Given the description of an element on the screen output the (x, y) to click on. 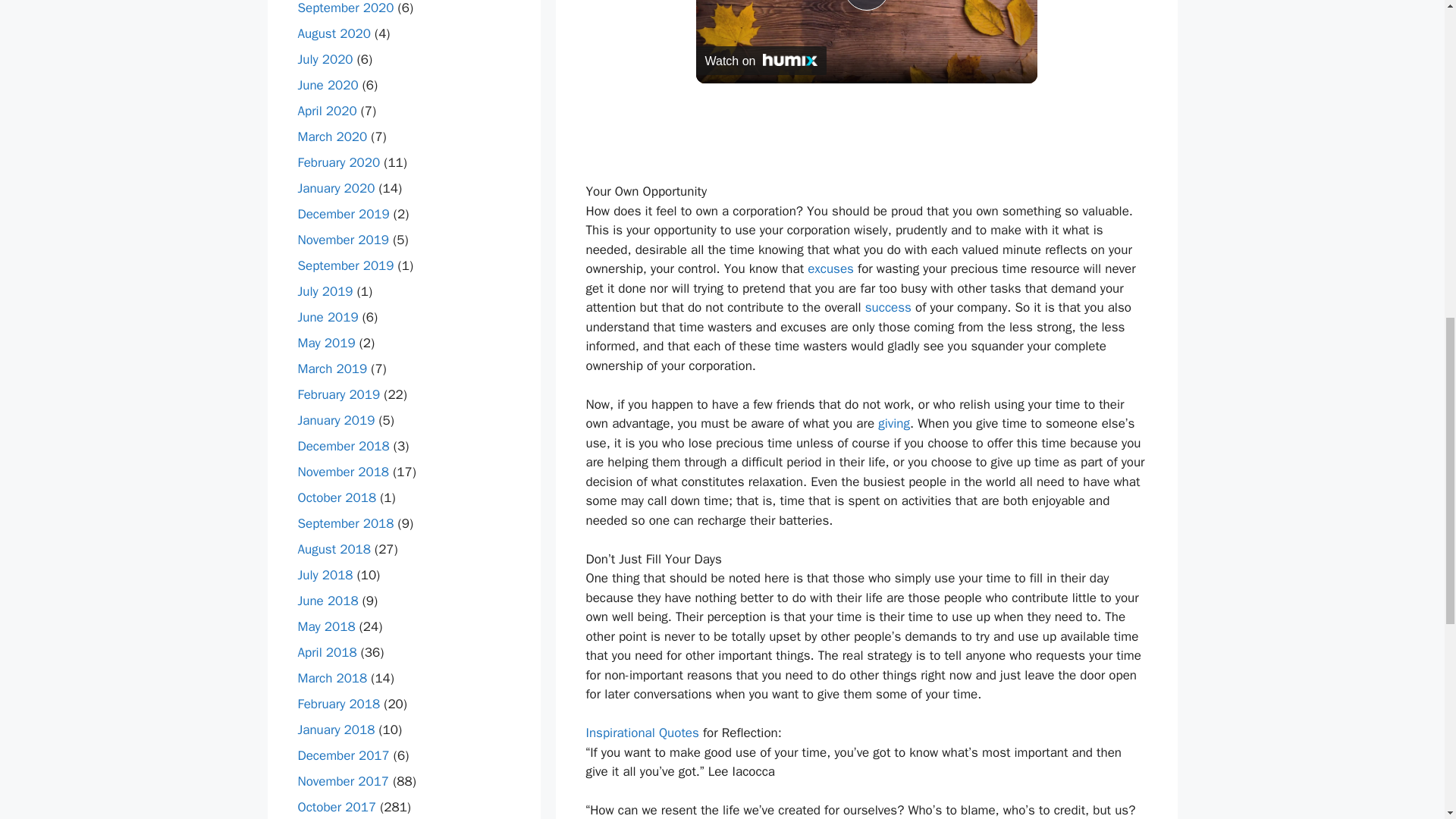
Play Video (865, 5)
excuses (830, 268)
giving (893, 423)
Watch on (761, 60)
Inspirational Quotes (641, 732)
Play Video (865, 5)
Scroll back to top (1406, 720)
success (887, 307)
